Given the description of an element on the screen output the (x, y) to click on. 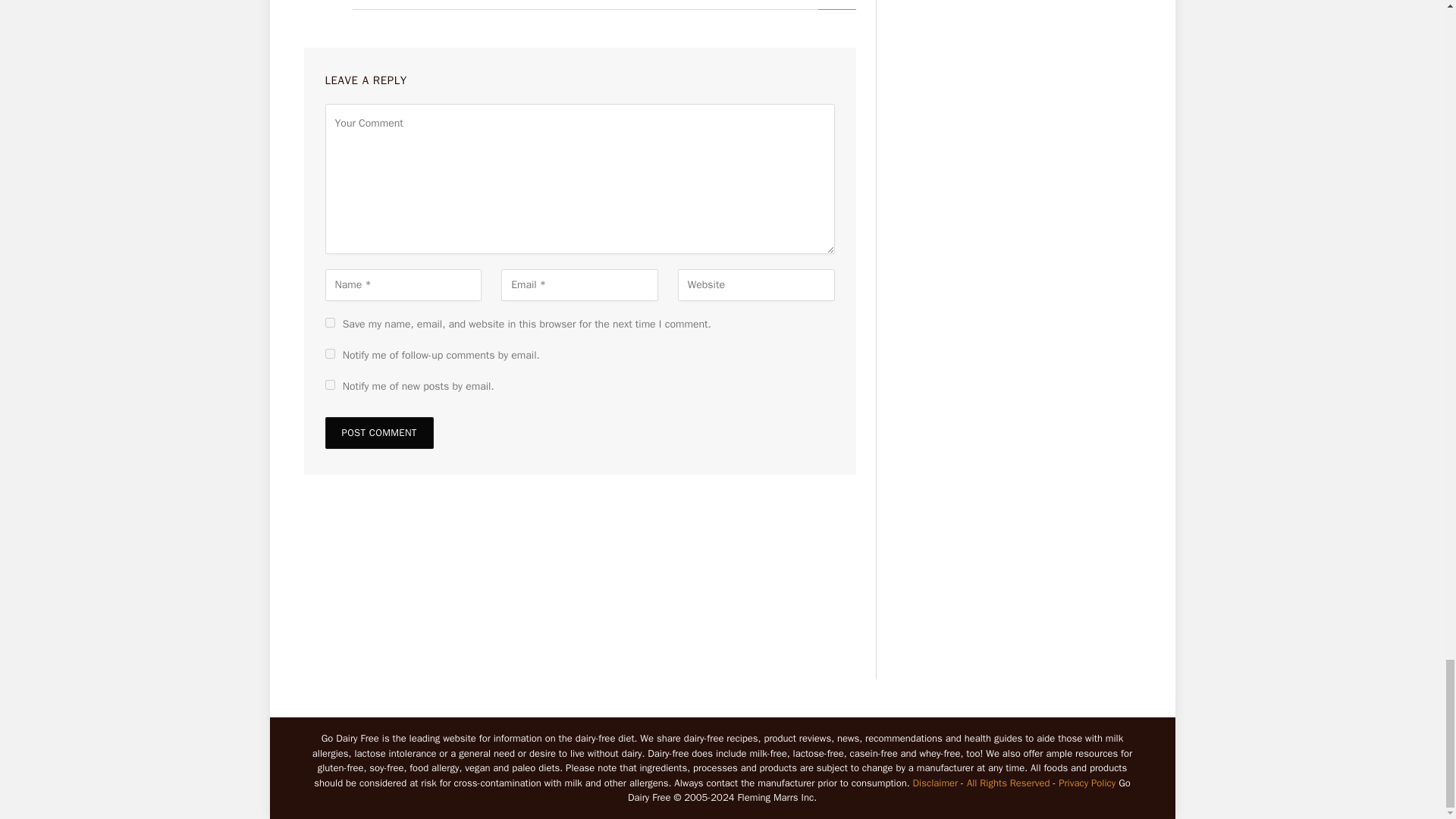
Post Comment (378, 432)
yes (329, 322)
subscribe (329, 353)
subscribe (329, 384)
